Given the description of an element on the screen output the (x, y) to click on. 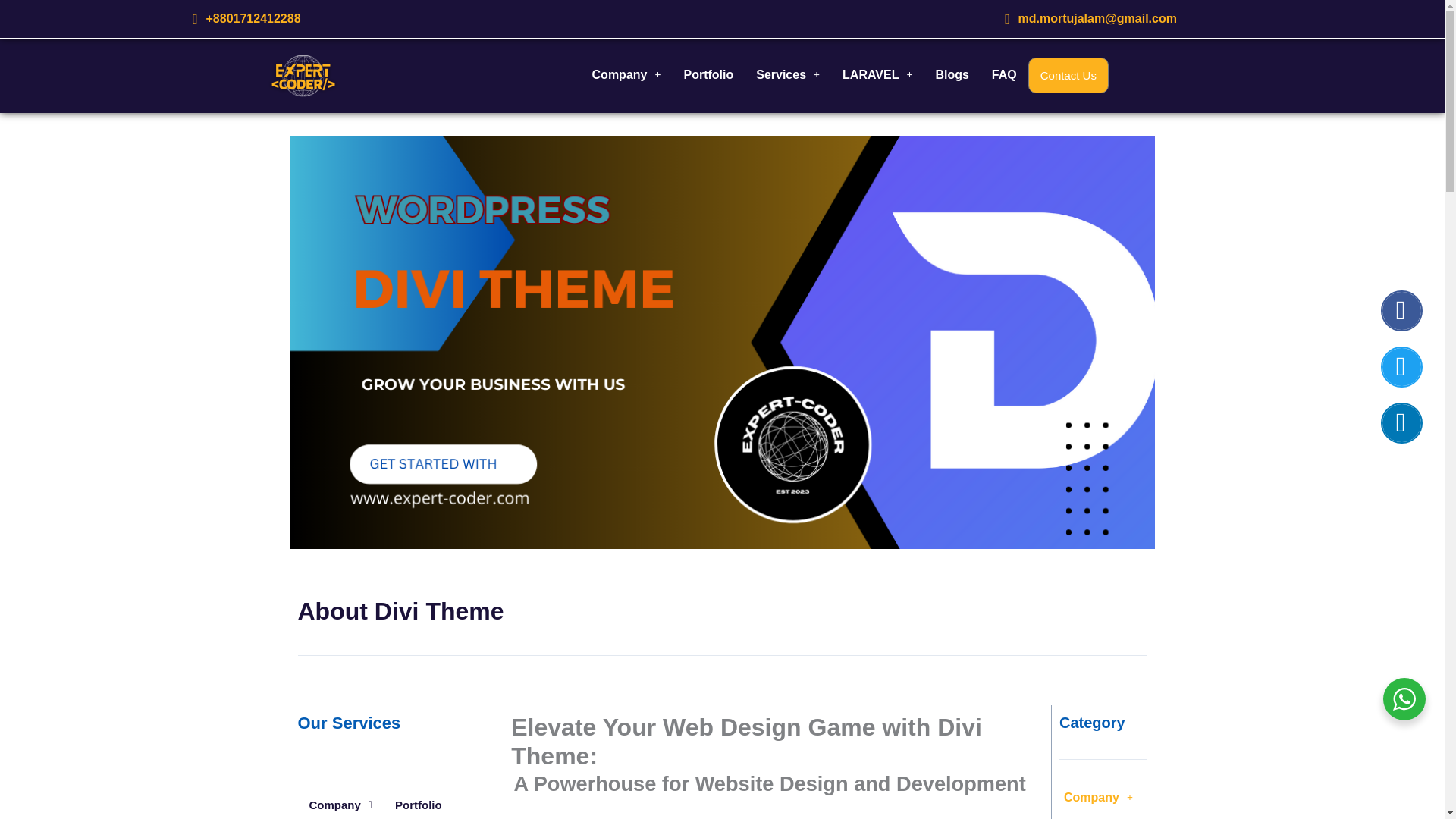
LARAVEL (877, 74)
Portfolio (707, 74)
Services (787, 74)
FAQ (1003, 74)
Blogs (951, 74)
Company (339, 803)
Company (626, 74)
Contact Us (1067, 75)
Portfolio (418, 803)
